Given the description of an element on the screen output the (x, y) to click on. 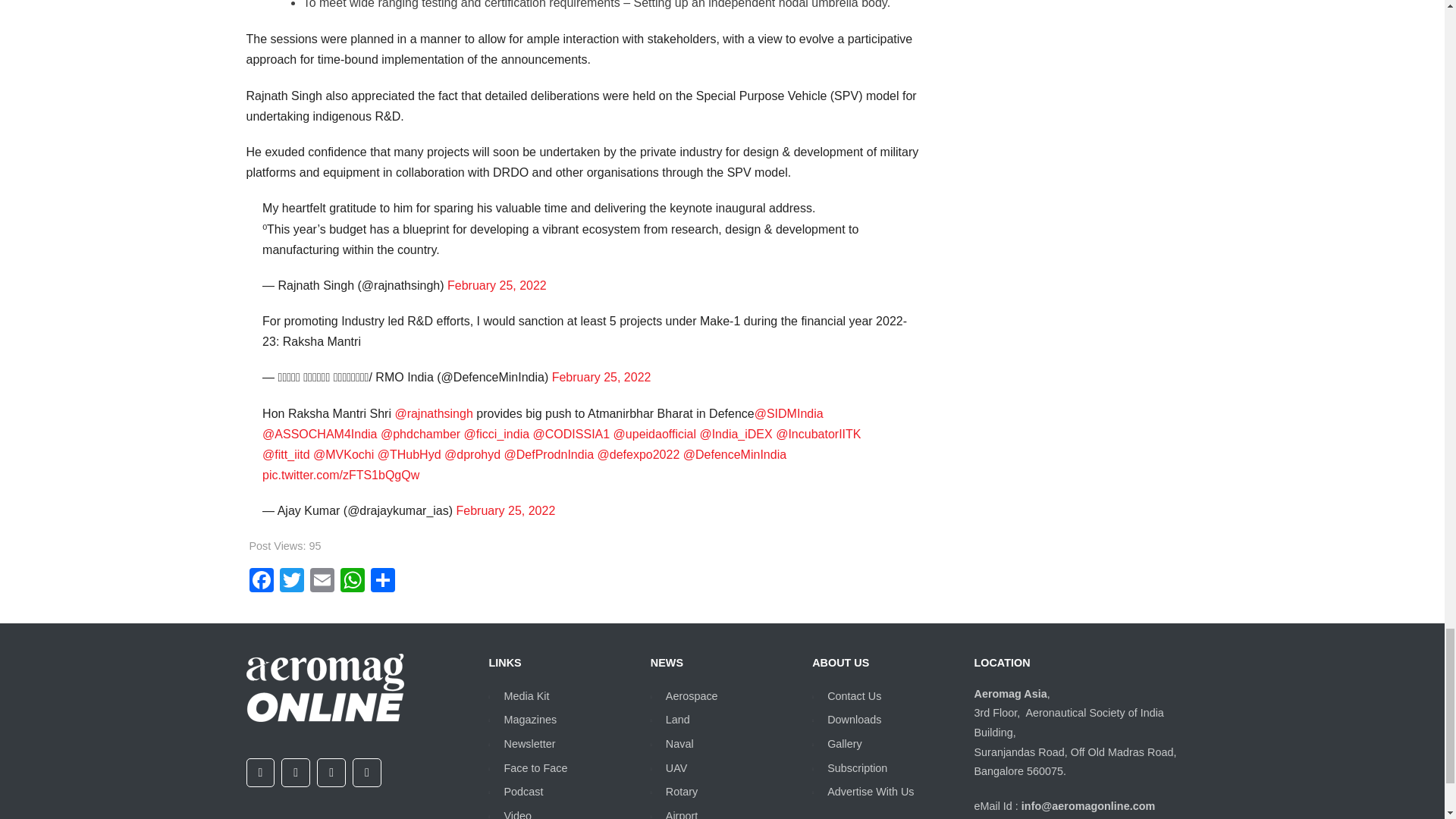
Twitter (290, 582)
Email (320, 582)
Facebook (261, 582)
